Given the description of an element on the screen output the (x, y) to click on. 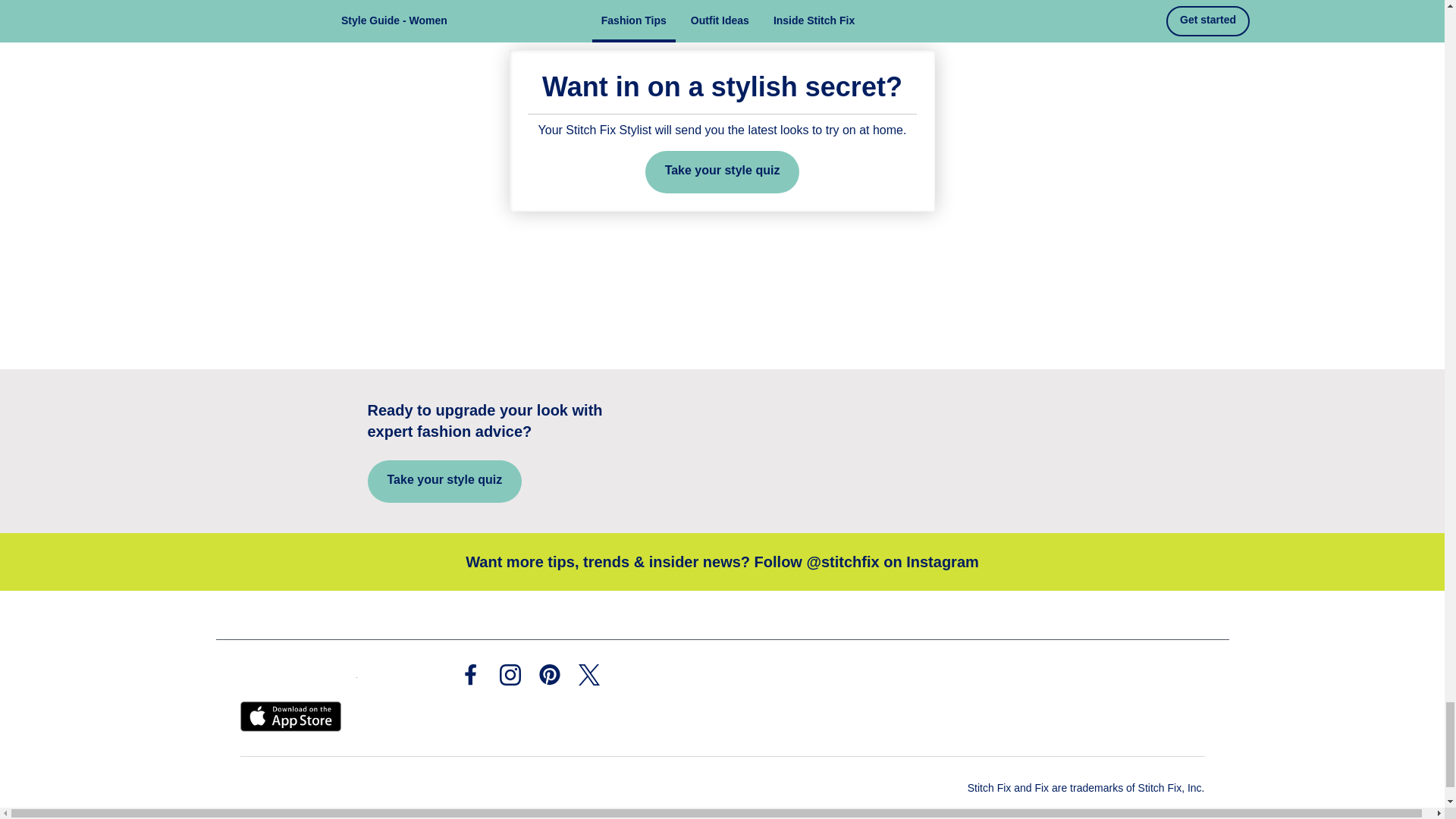
Take your style quiz (722, 171)
Take your style quiz (443, 481)
Stitch Fix (298, 673)
